Given the description of an element on the screen output the (x, y) to click on. 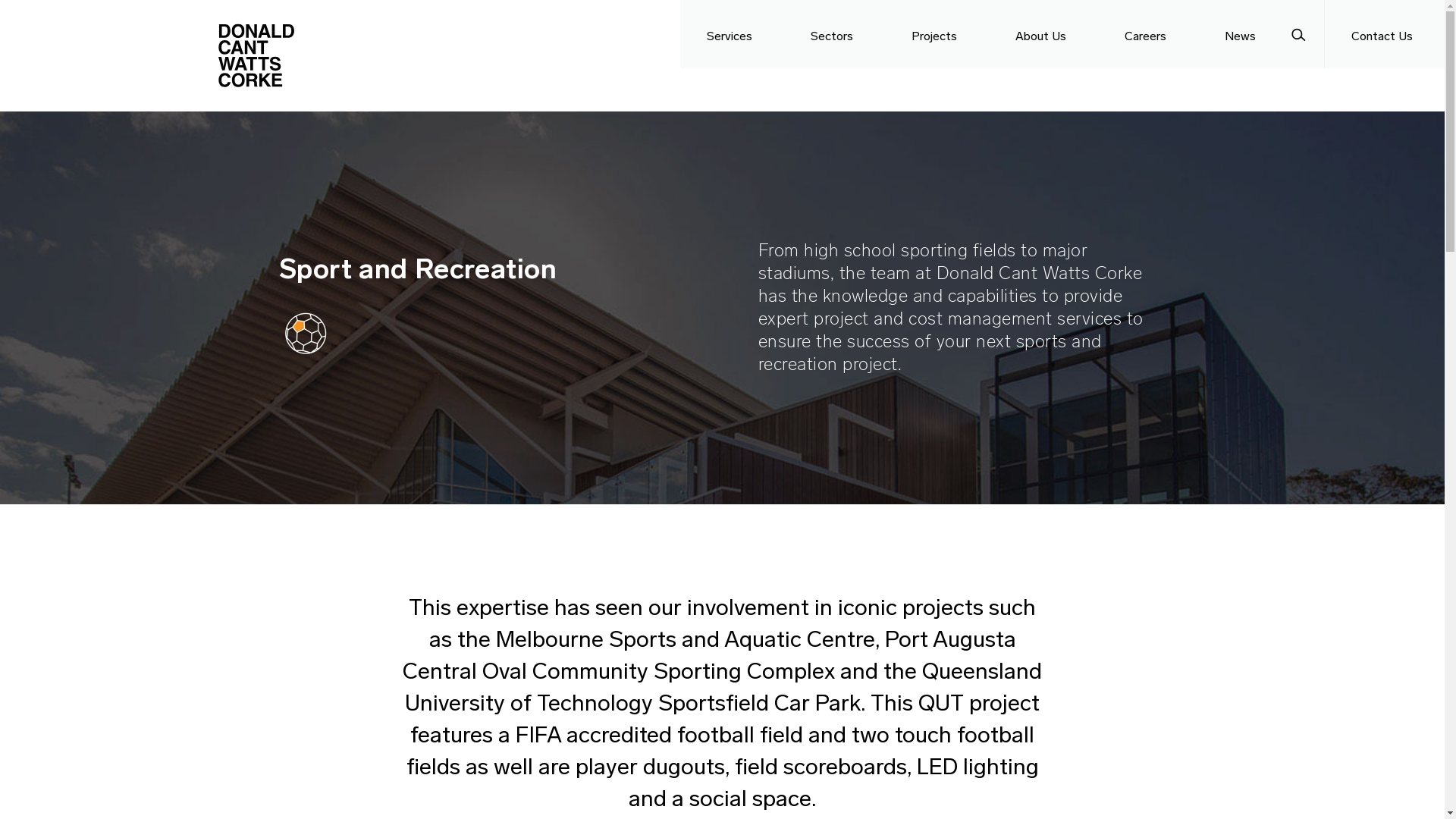
Sport-Icon-White.png Element type: hover (305, 332)
About Us Element type: text (1043, 34)
Careers Element type: text (1148, 34)
Projects Element type: text (936, 34)
Contact Us Element type: text (1384, 34)
News Element type: text (1242, 34)
Sectors Element type: text (834, 34)
Services Element type: text (732, 34)
